Given the description of an element on the screen output the (x, y) to click on. 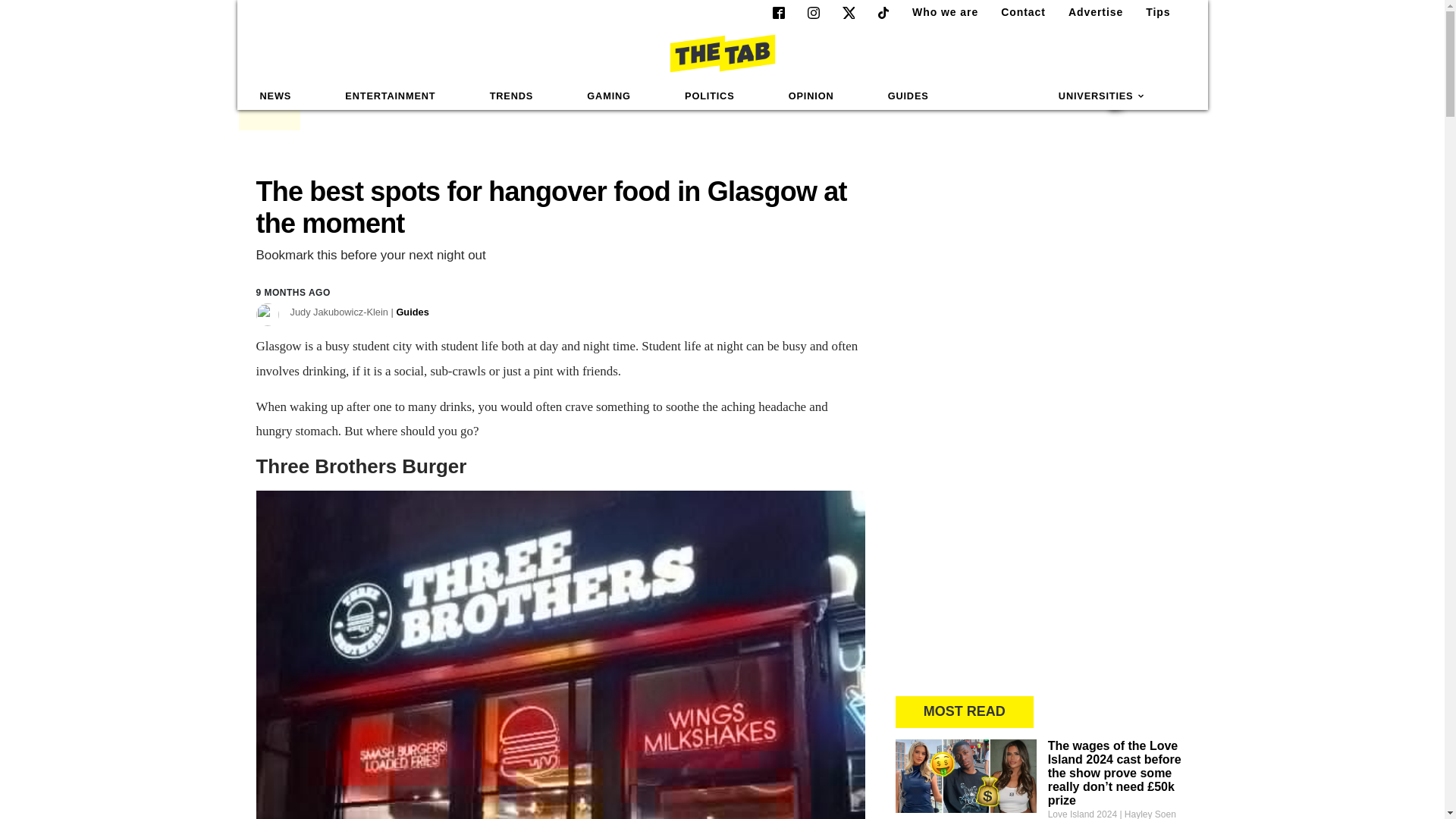
Who we are (938, 11)
POLITICS (708, 96)
NEWS (275, 96)
TRENDS (511, 96)
GUIDES (908, 96)
Advertise (1089, 11)
OPINION (811, 96)
GAMING (608, 96)
ENTERTAINMENT (389, 96)
Posts by Judy Jakubowicz-Klein (358, 312)
Contact (1016, 11)
Tips (1152, 11)
UNIVERSITIES (1101, 96)
